Given the description of an element on the screen output the (x, y) to click on. 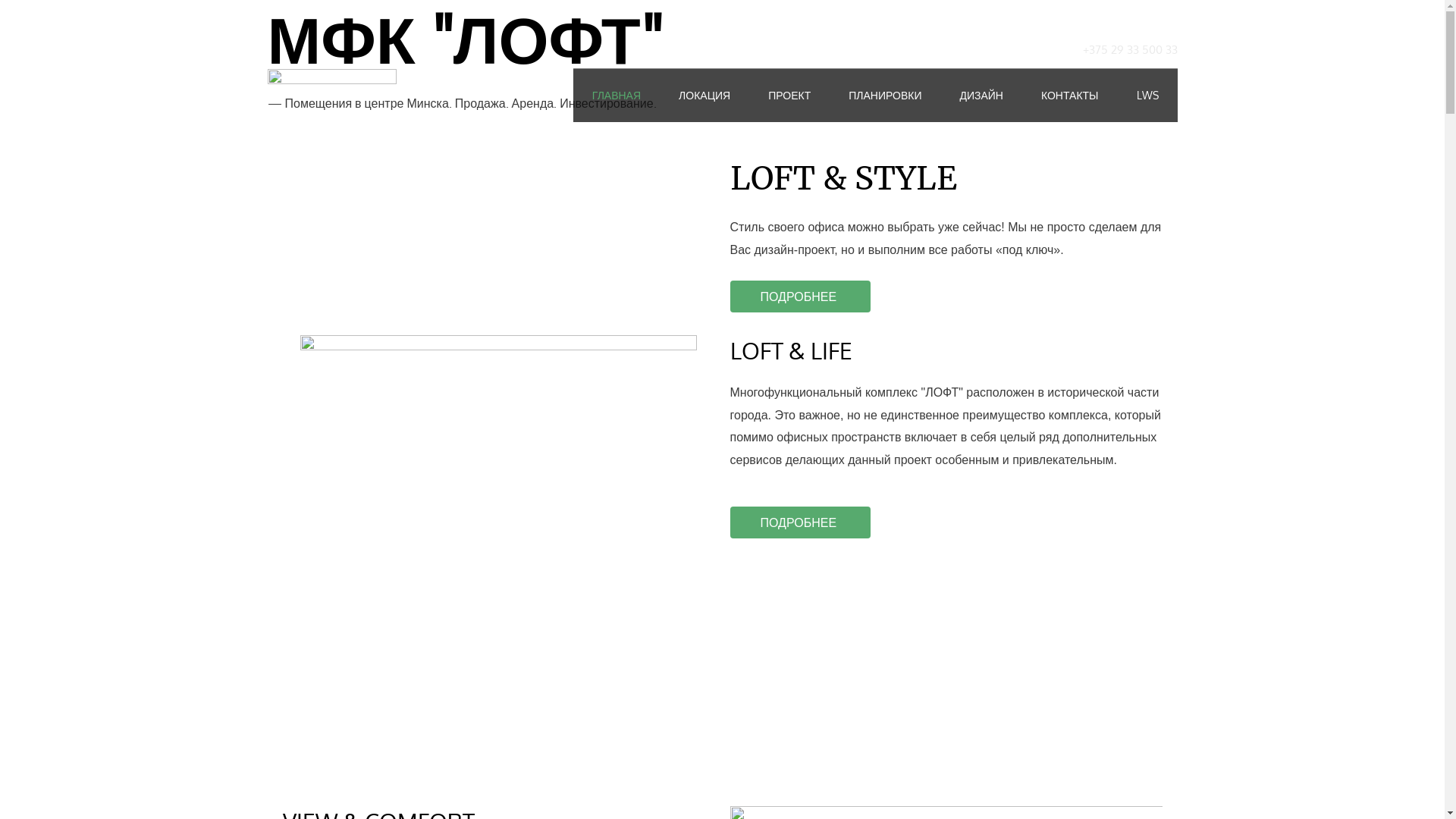
LWS Element type: text (1147, 95)
